Given the description of an element on the screen output the (x, y) to click on. 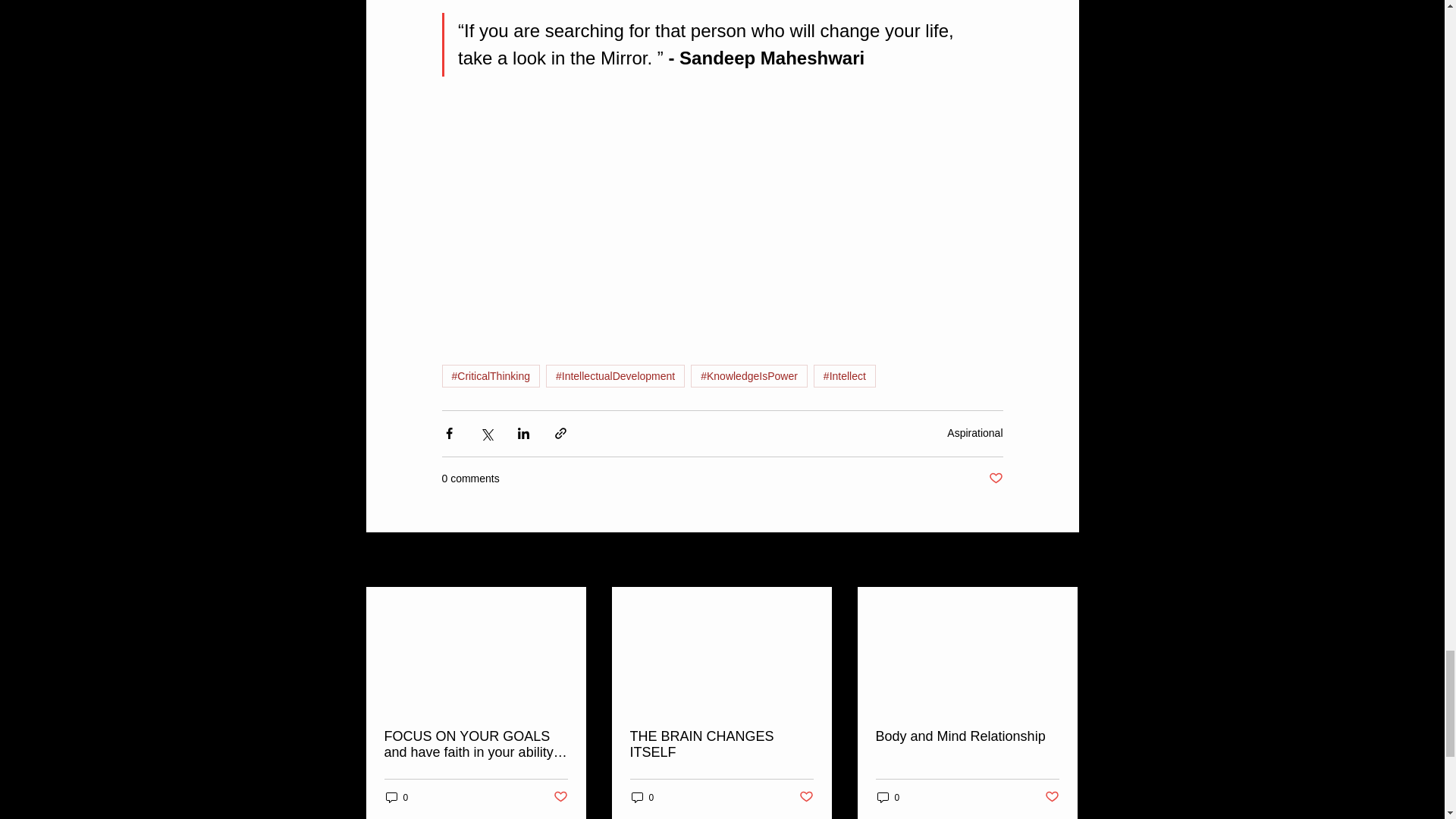
THE BRAIN CHANGES ITSELF (720, 744)
Post not marked as liked (995, 478)
0 (396, 797)
Post not marked as liked (560, 797)
Aspirational (975, 432)
0 (641, 797)
See All (1061, 560)
